Given the description of an element on the screen output the (x, y) to click on. 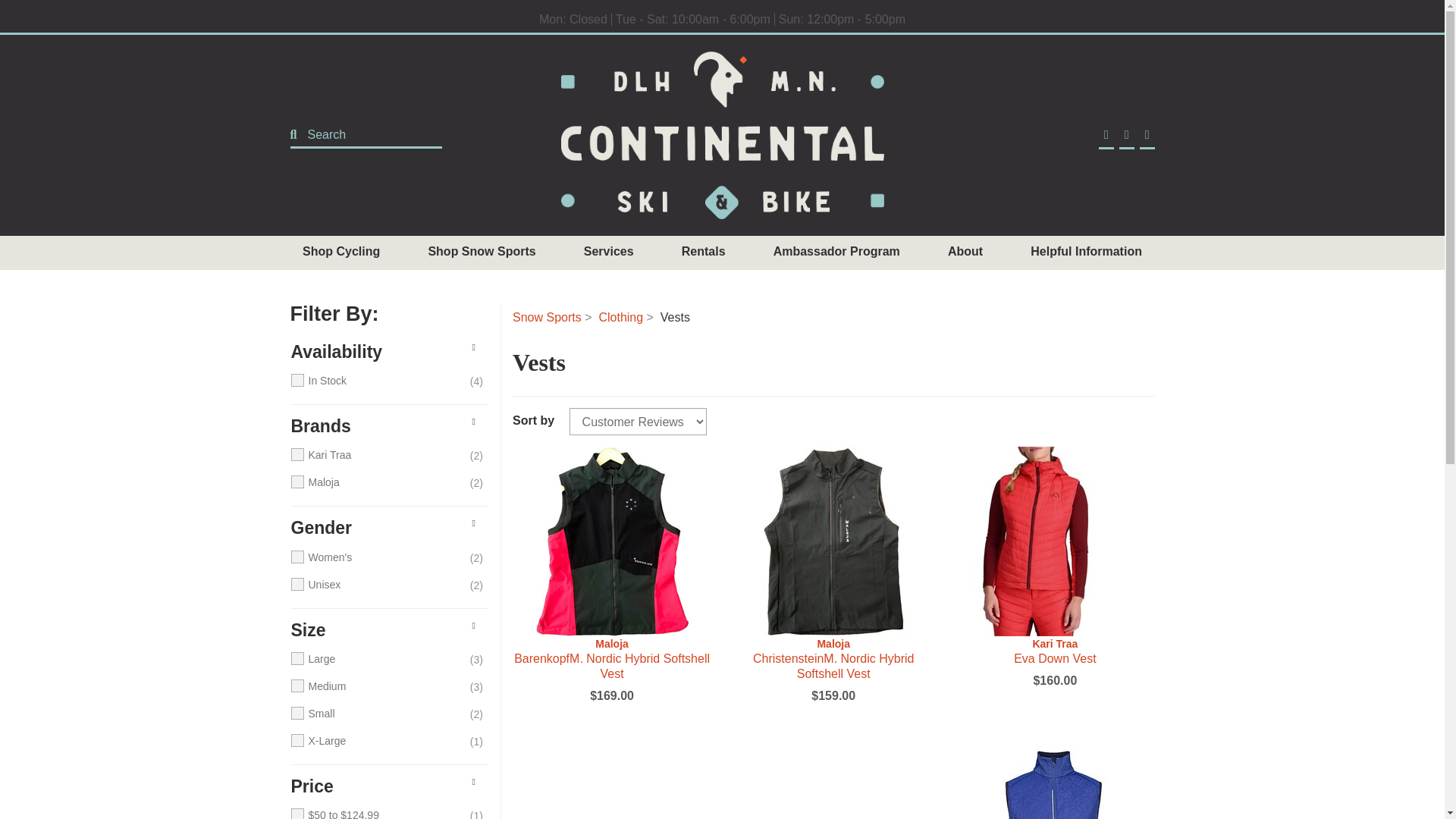
Continental Ski and Bike Home Page (721, 135)
Maloja ChristensteinM. Nordic Hybrid Softshell Vest (833, 658)
Kari Traa Eva Down Vest (1054, 651)
Shop Cycling (340, 251)
Search (356, 134)
Maloja BarenkopfM. Nordic Hybrid Softshell Vest (611, 658)
Maloja BarenkopfM. Nordic Hybrid Softshell Vest (611, 541)
Maloja ChristensteinM. Nordic Hybrid Softshell Vest (833, 541)
Kari Traa Eva Down Vest (1054, 541)
